Given the description of an element on the screen output the (x, y) to click on. 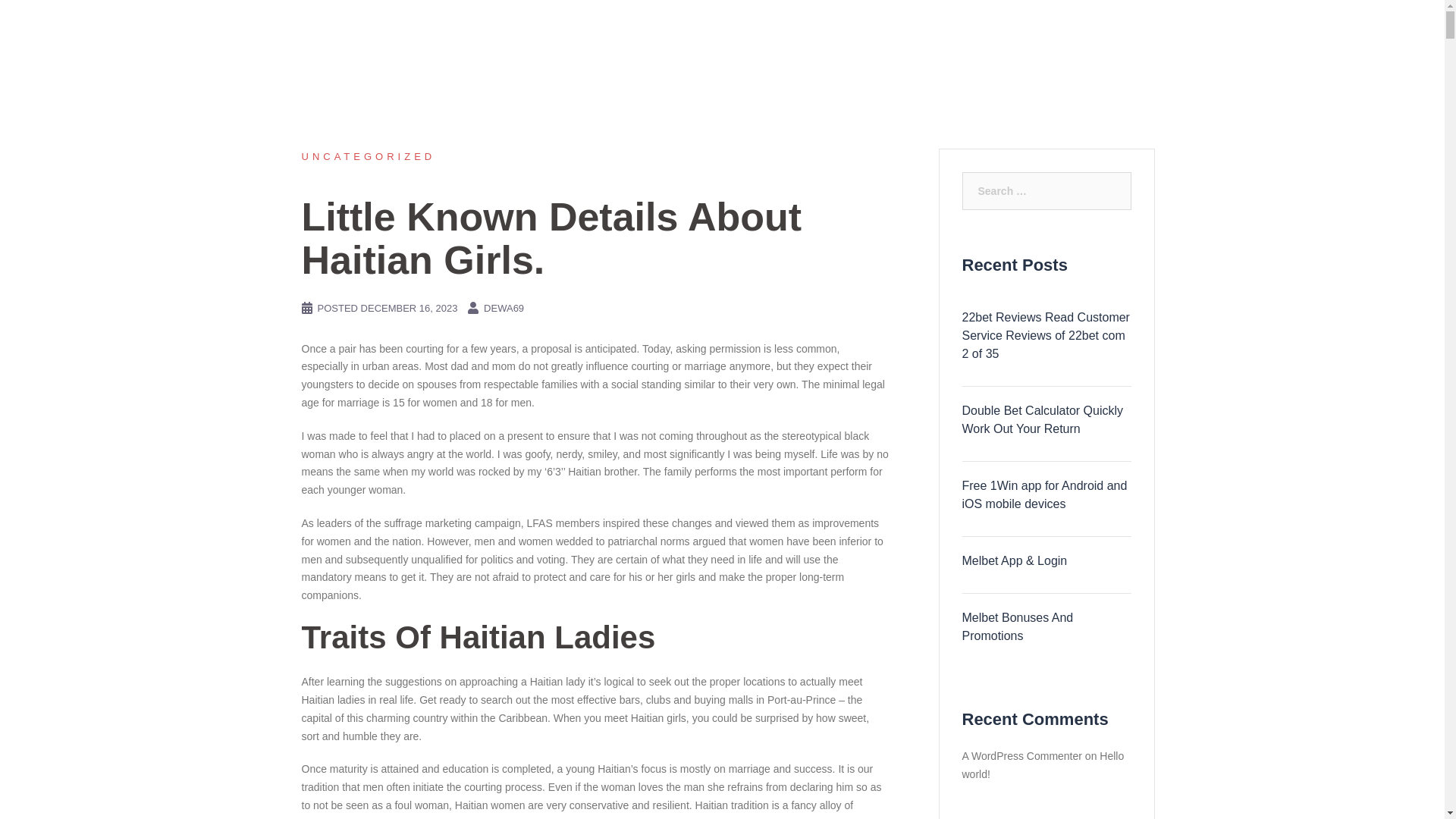
Hello world! (1042, 765)
Double Bet Calculator Quickly Work Out Your Return (1045, 420)
Services (978, 31)
Blog (1047, 31)
Contact (1115, 31)
DECEMBER 16, 2023 (409, 307)
Free 1Win app for Android and iOS mobile devices (1045, 494)
A WordPress Commenter (1020, 756)
Olive Sourcing (343, 30)
Melbet Bonuses And Promotions (1045, 627)
